Given the description of an element on the screen output the (x, y) to click on. 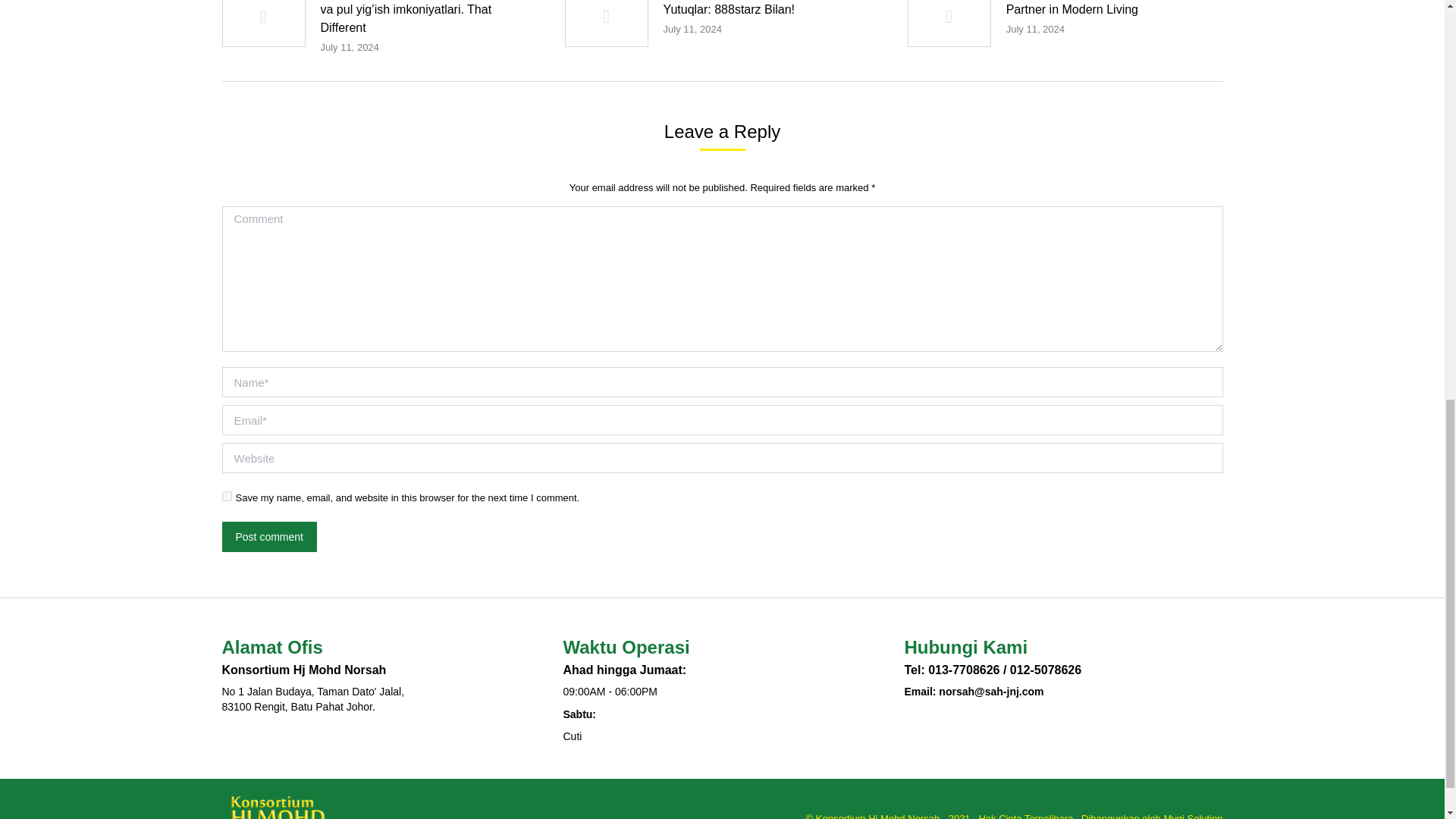
yes (226, 496)
